Given the description of an element on the screen output the (x, y) to click on. 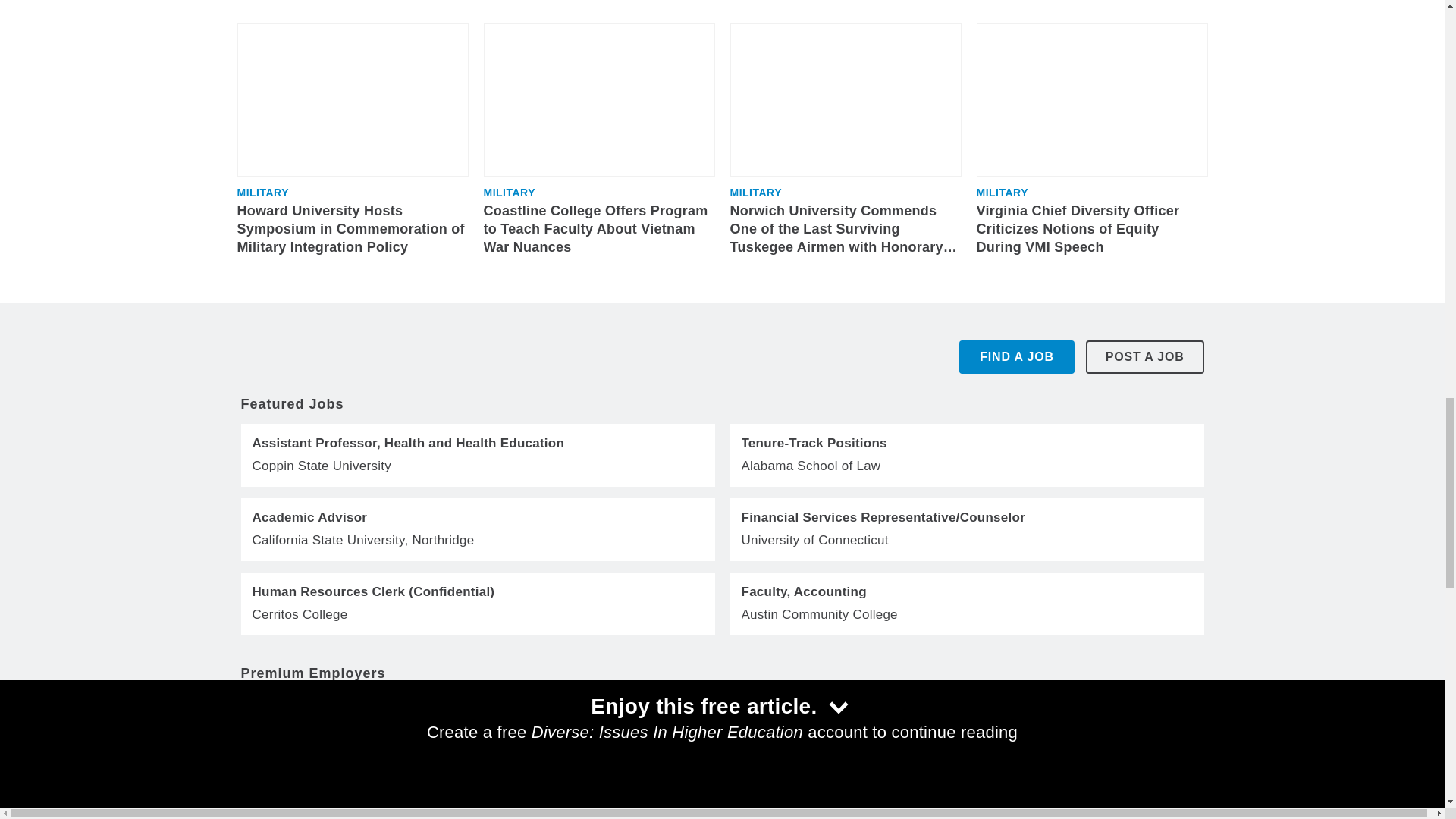
Military (261, 192)
Military (509, 192)
